Given the description of an element on the screen output the (x, y) to click on. 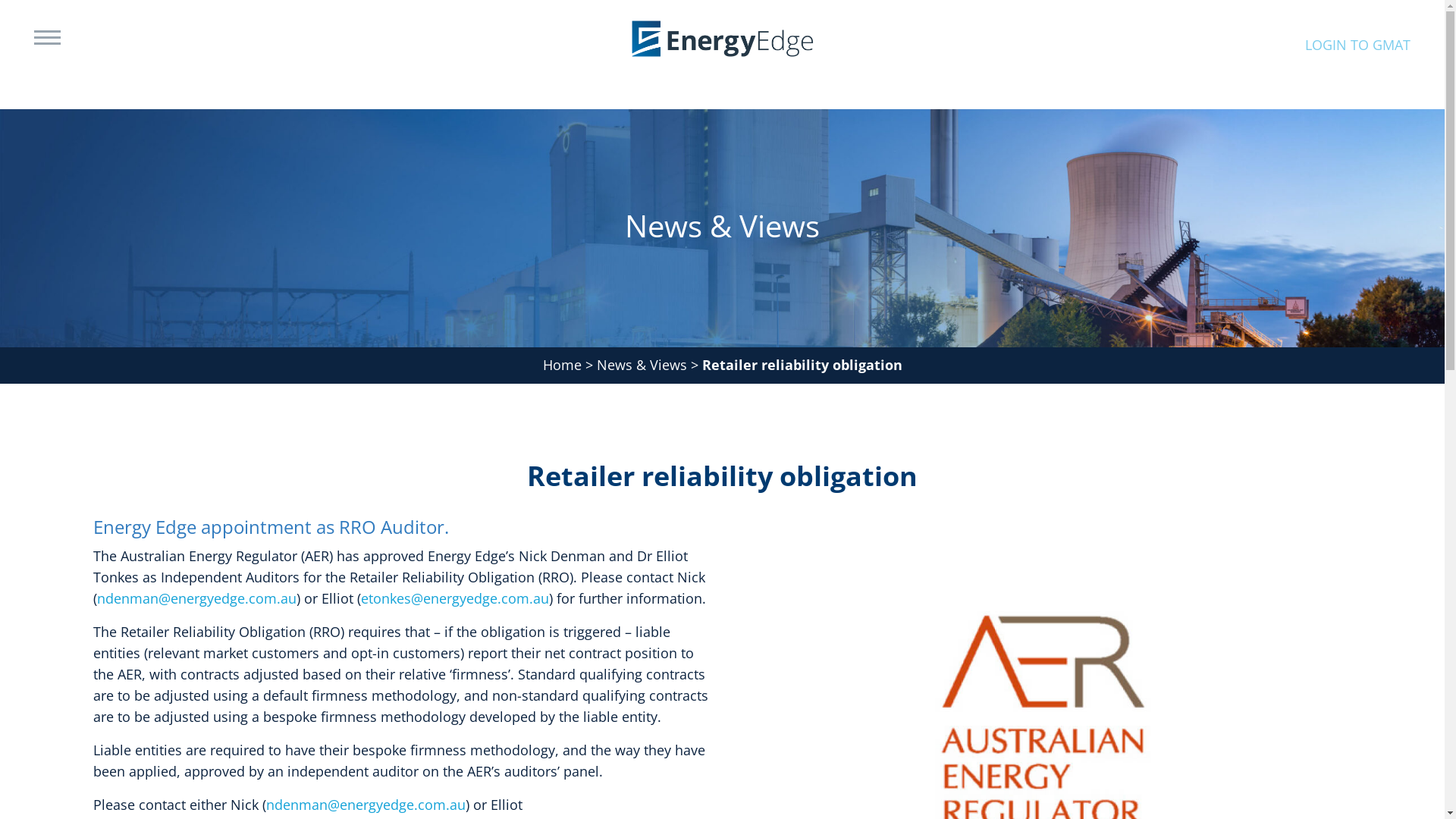
LOGIN TO GMAT Element type: text (1357, 44)
etonkes@energyedge.com.au Element type: text (454, 598)
Home Element type: text (561, 364)
ndenman@energyedge.com.au Element type: text (196, 598)
ndenman@energyedge.com.au Element type: text (364, 804)
News & Views Element type: text (641, 364)
